Given the description of an element on the screen output the (x, y) to click on. 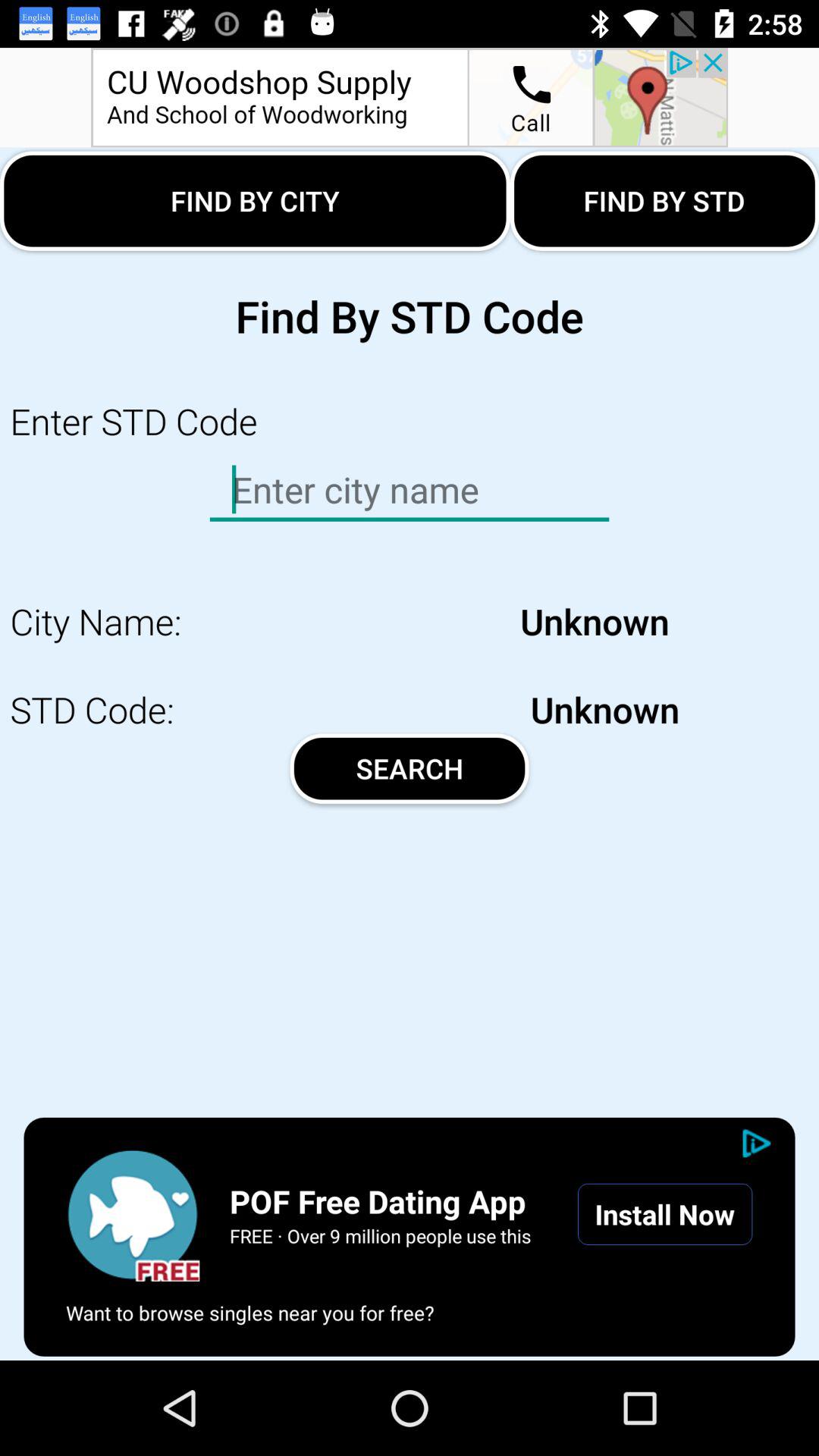
bring up keyboard (409, 490)
